Given the description of an element on the screen output the (x, y) to click on. 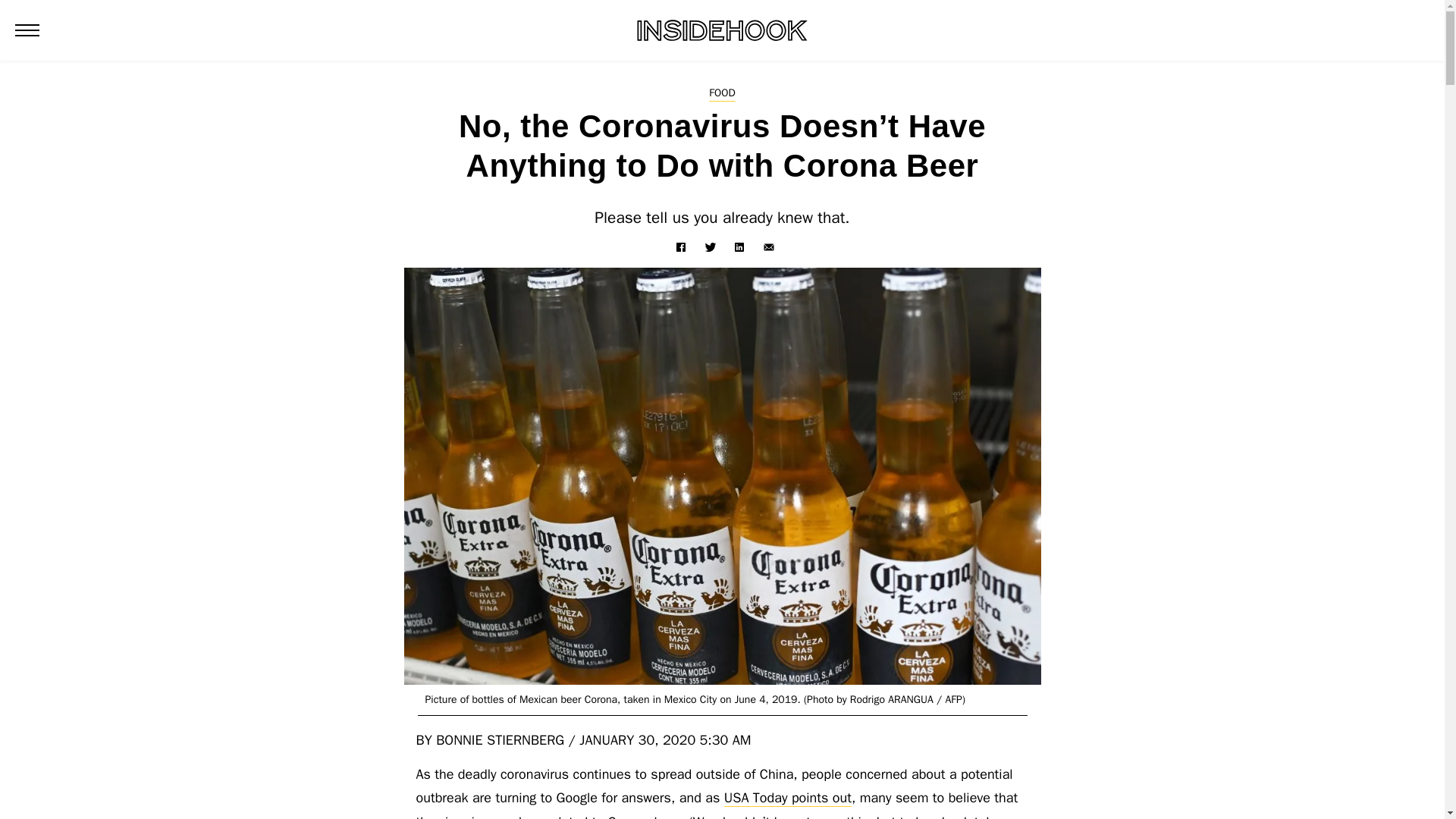
FOOD (722, 92)
USA Today points out (787, 797)
BONNIE STIERNBERG (499, 740)
